Given the description of an element on the screen output the (x, y) to click on. 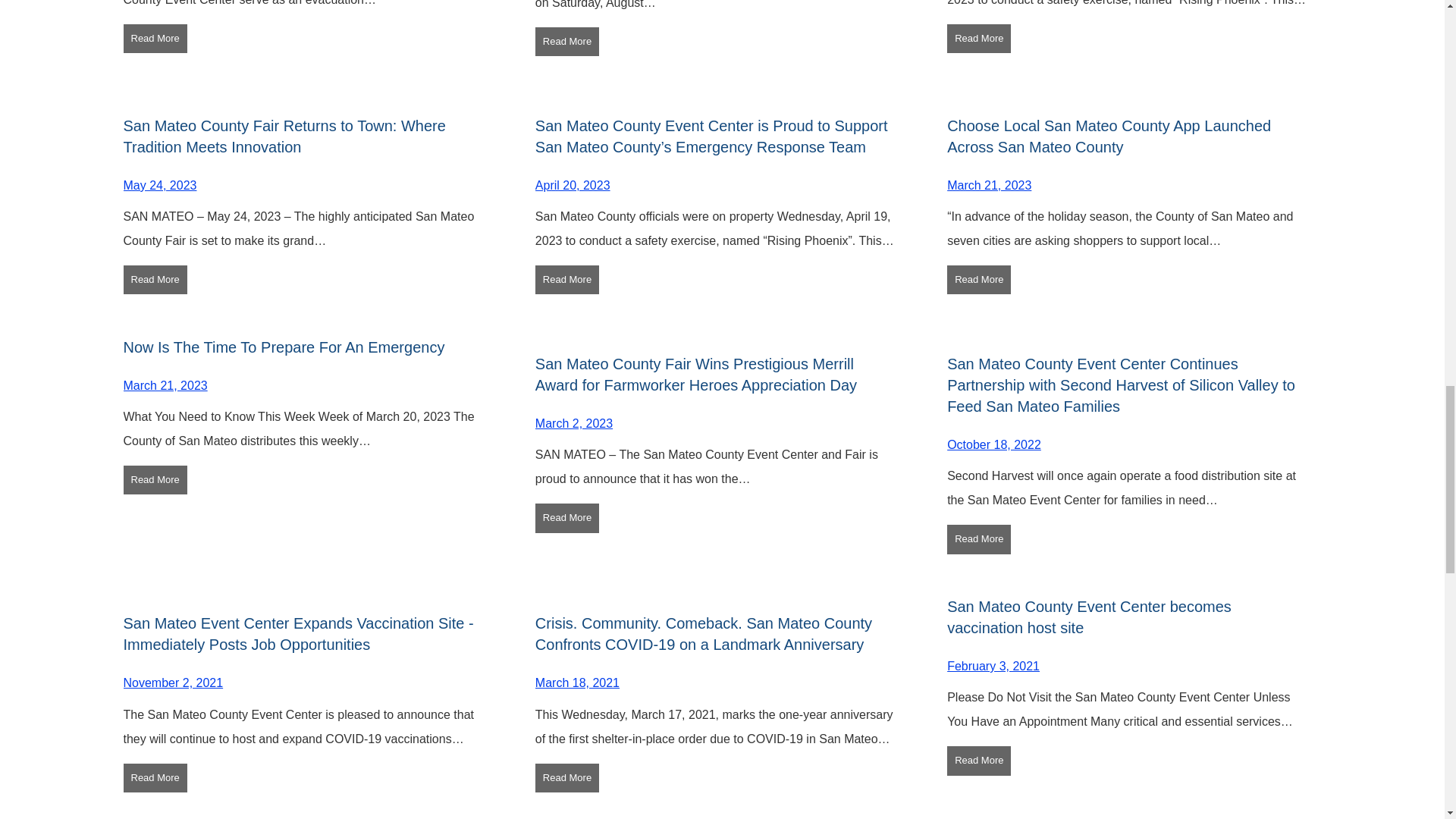
2023-05-24T10:07:18-07:00 (159, 185)
2023-03-02T10:56:45-07:00 (573, 422)
2023-03-21T10:59:36-07:00 (164, 385)
2023-04-20T17:53:00-07:00 (572, 185)
2022-10-18T09:56:28-07:00 (994, 444)
2023-03-21T11:35:04-07:00 (988, 185)
